Given the description of an element on the screen output the (x, y) to click on. 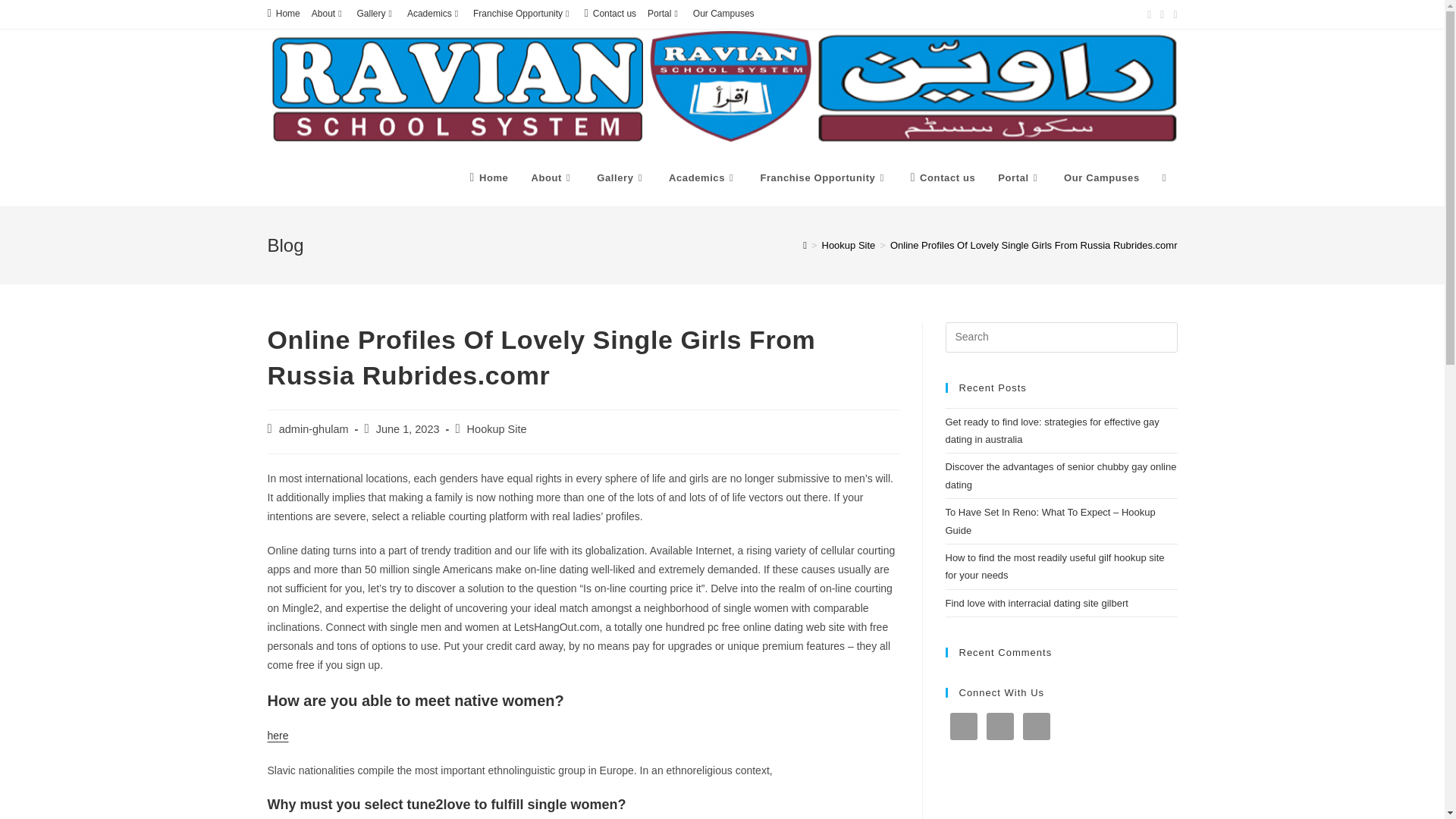
Academics (434, 13)
Gallery (376, 13)
Home (488, 177)
Our Campuses (723, 13)
About (328, 13)
Contact us (609, 13)
Home (282, 13)
Posts by admin-ghulam (314, 428)
Franchise Opportunity (522, 13)
Portal (664, 13)
